Given the description of an element on the screen output the (x, y) to click on. 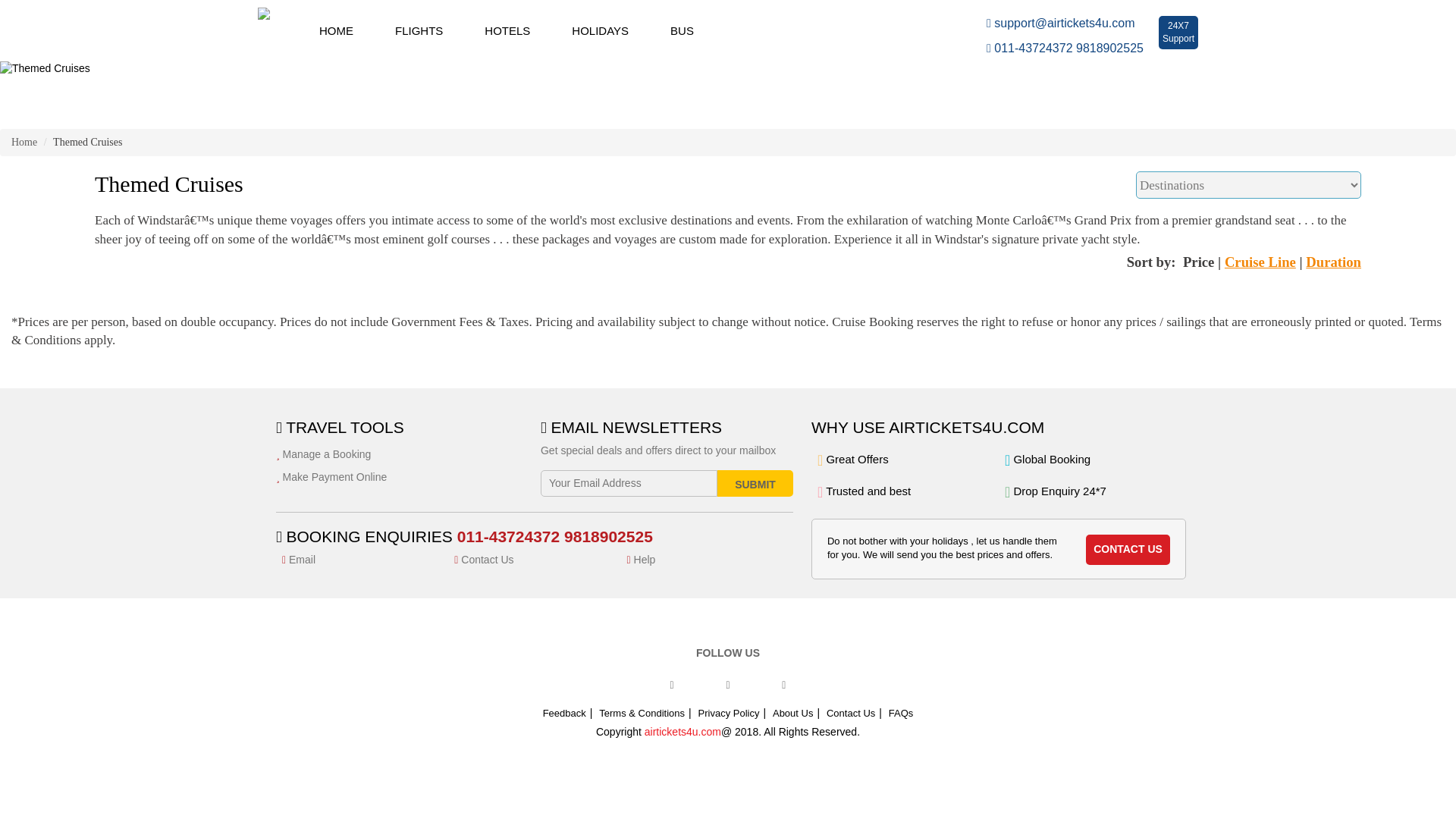
Privacy Policy (728, 713)
 Email (362, 560)
Submit (755, 483)
Make Payment Online (402, 477)
Themed Cruises (511, 87)
BUS (672, 30)
FLIGHTS (409, 30)
HOTELS (497, 30)
FAQs (901, 713)
CONTACT US (1128, 549)
Duration (1177, 32)
 011-43724372 9818902525 (1333, 261)
Home (1064, 44)
 Contact Us (24, 142)
